Given the description of an element on the screen output the (x, y) to click on. 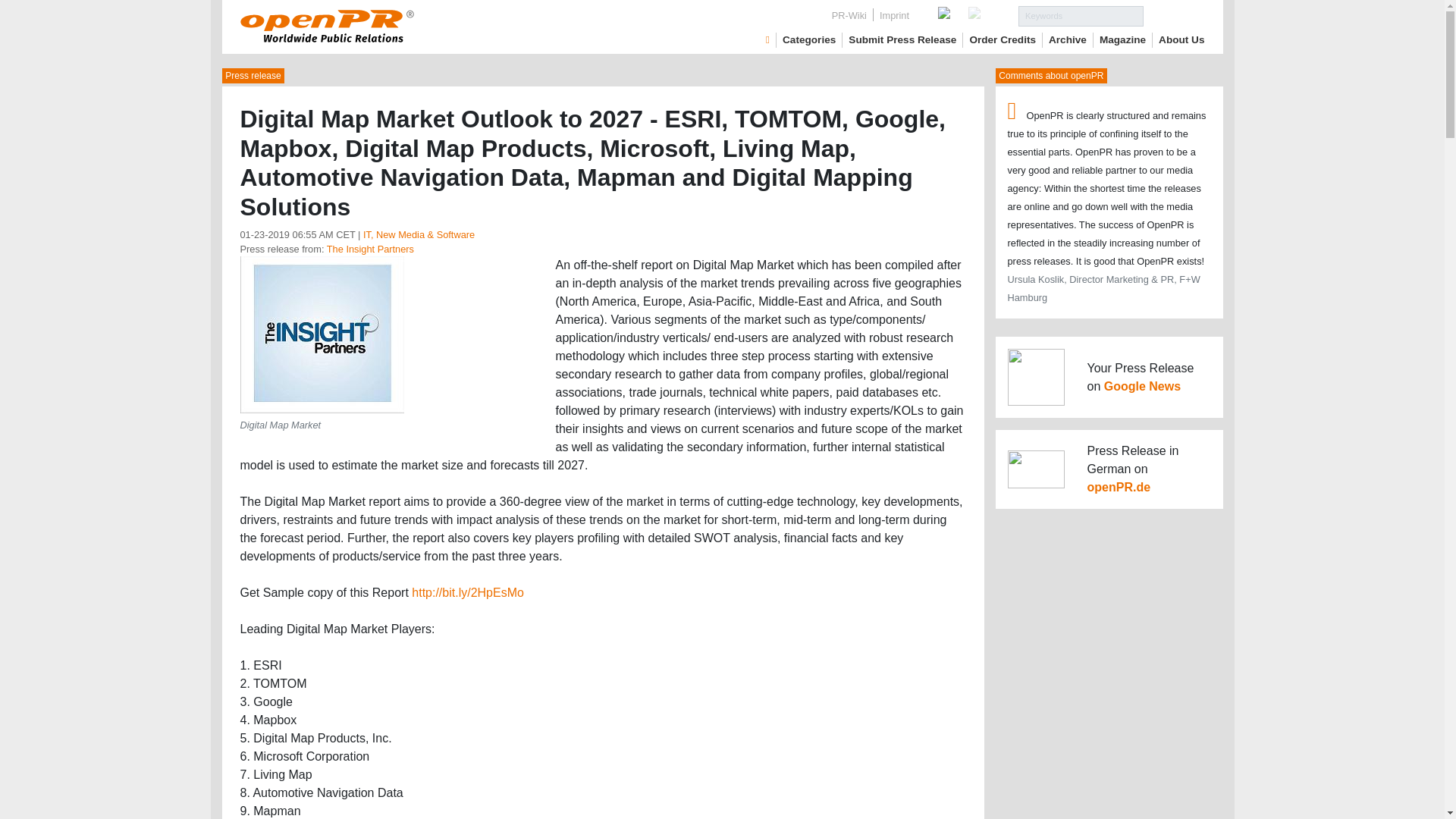
Magazine (1122, 39)
Categories (809, 39)
openPR (767, 39)
About Us (1181, 39)
The Insight Partners (369, 248)
Digital Map Market (321, 333)
Archive (1067, 39)
Order Credits (1002, 39)
Imprint (894, 15)
archive und pressrelease of The Insight Partners (369, 248)
Submit Press Release (902, 39)
Search   (1173, 15)
PR-Wiki (848, 15)
